Given the description of an element on the screen output the (x, y) to click on. 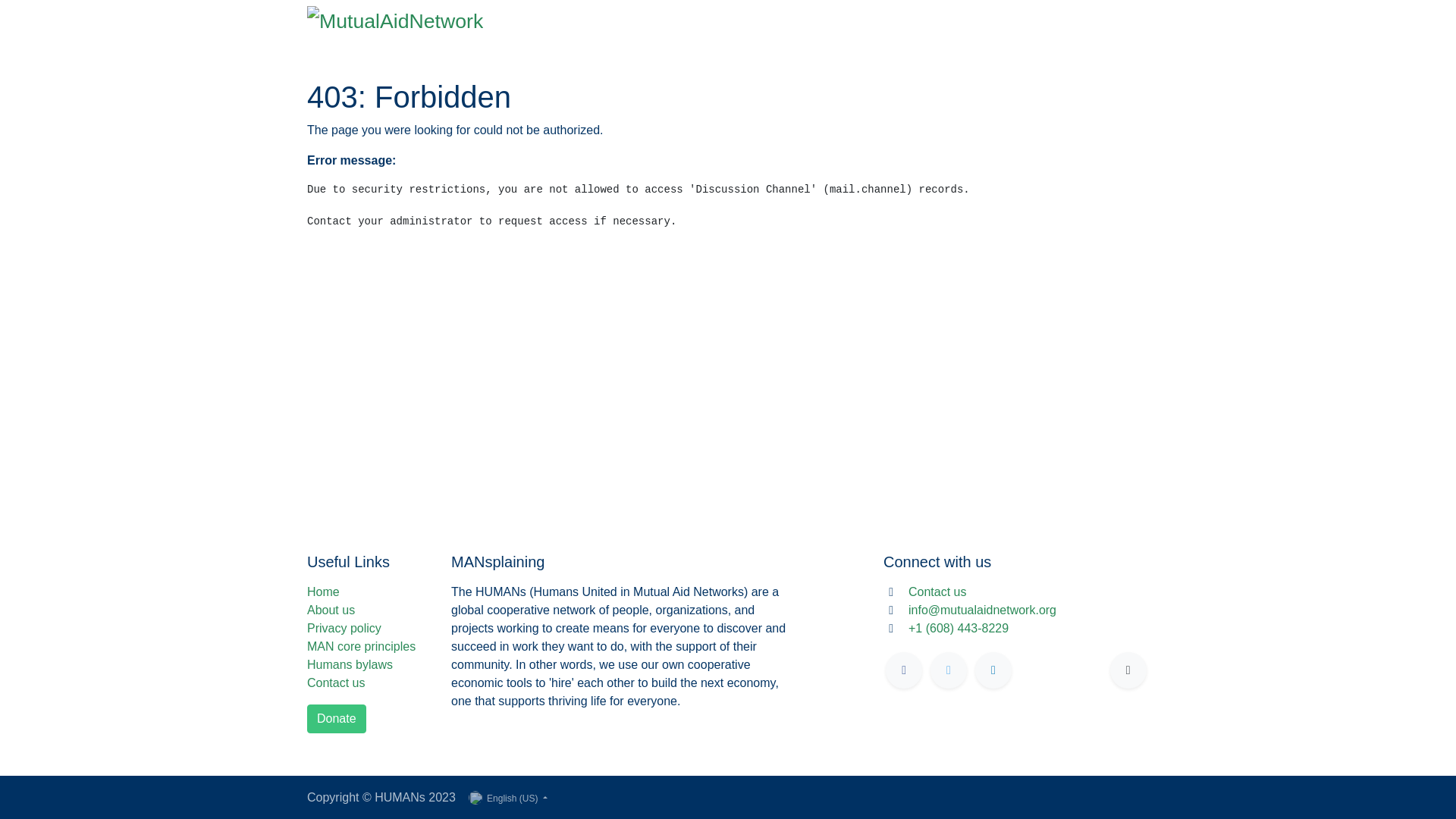
Donate (336, 718)
MutualAidNetwork (395, 20)
About us (331, 609)
Humans bylaws (350, 664)
Contact us (937, 591)
Privacy policy (344, 627)
Home (323, 591)
Contact us (336, 682)
MAN core principles (360, 645)
